Given the description of an element on the screen output the (x, y) to click on. 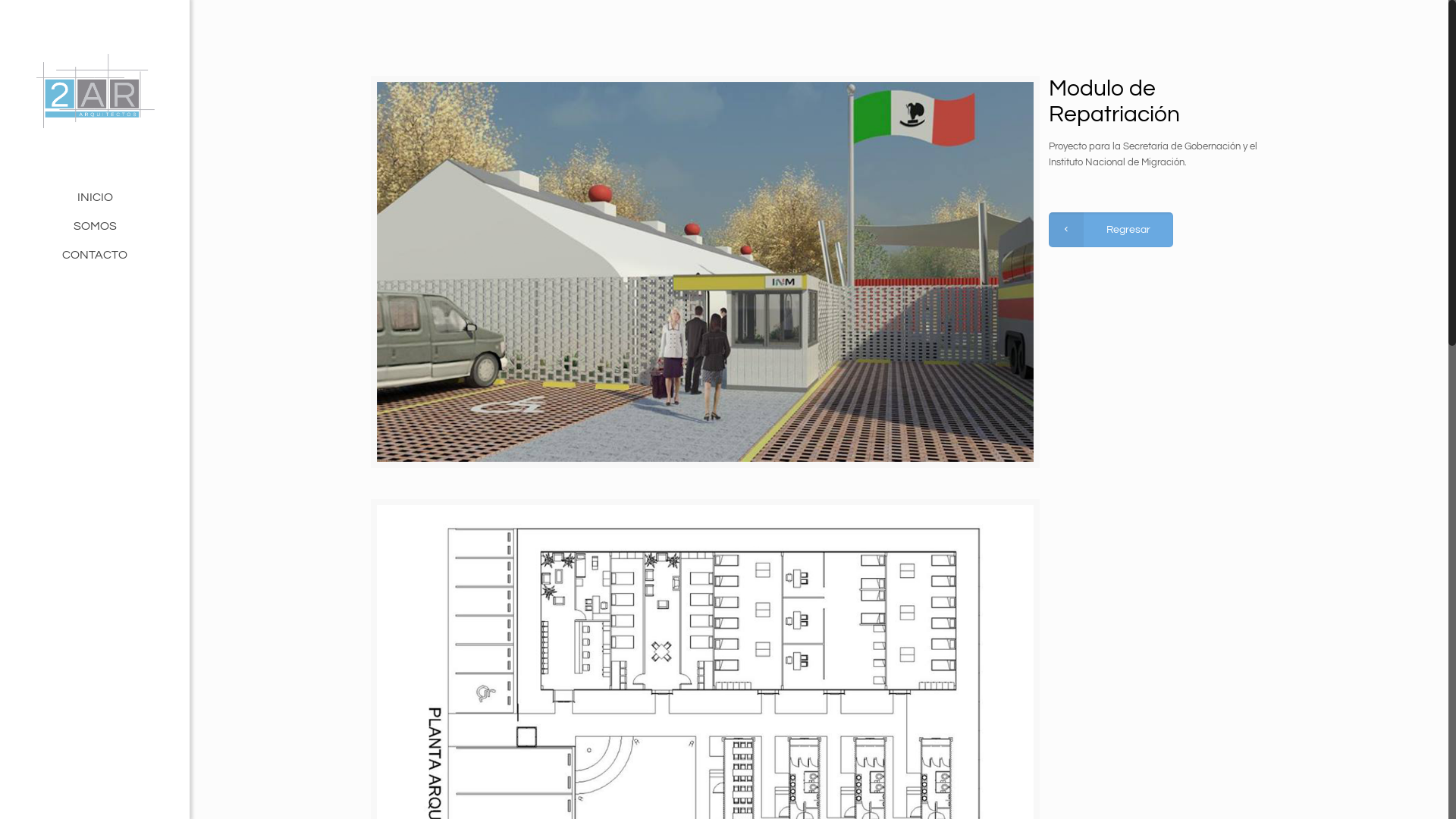
SOMOS Element type: text (94, 225)
2AR Element type: hover (94, 91)
Regresar Element type: text (1110, 229)
INICIO Element type: text (94, 196)
CONTACTO Element type: text (94, 254)
